Given the description of an element on the screen output the (x, y) to click on. 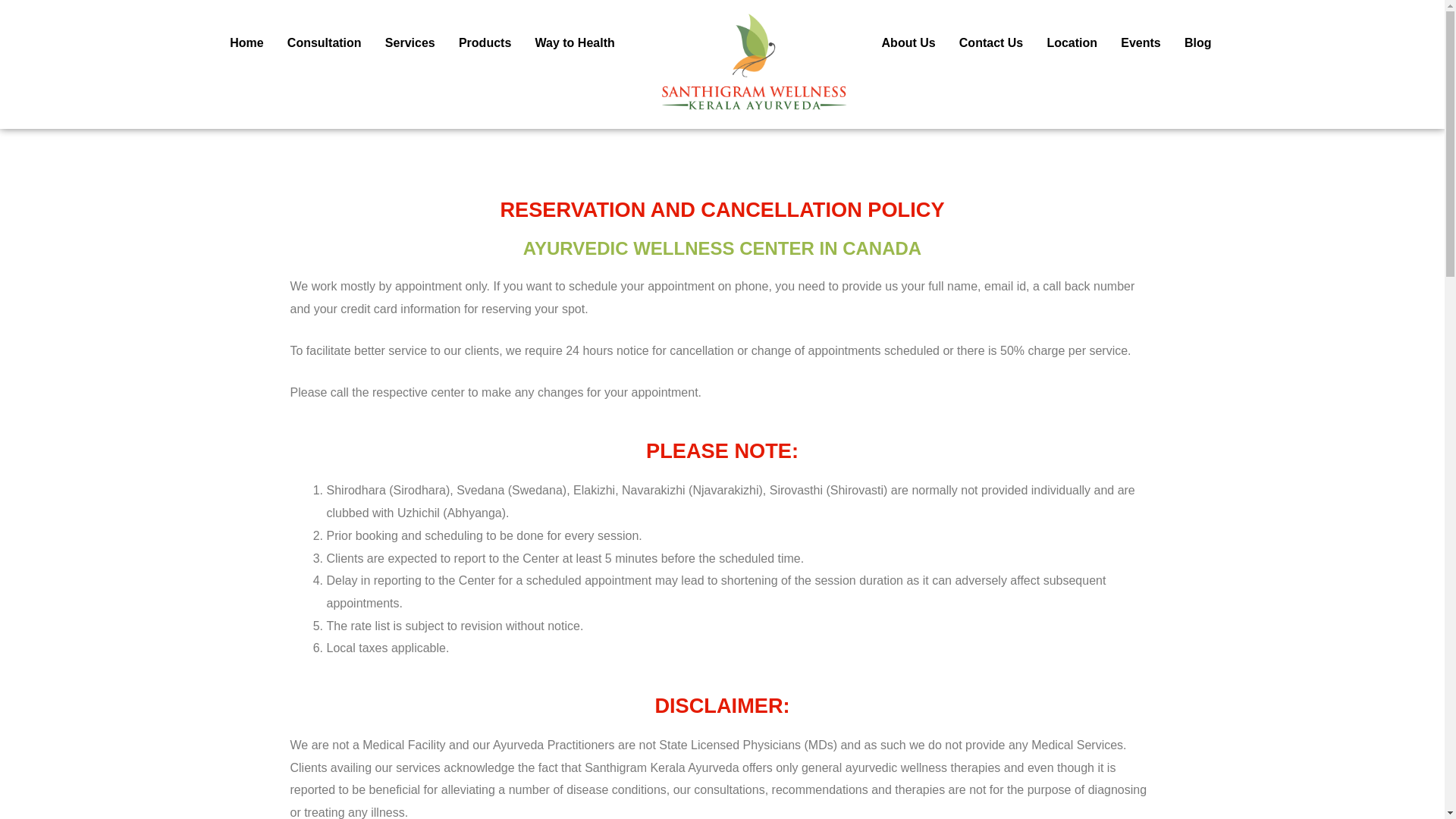
Contact Us (991, 42)
Home (247, 42)
Products (484, 42)
Services (409, 42)
About Us (908, 42)
Events (1141, 42)
Location (1072, 42)
Consultation (323, 42)
Way to Health (574, 42)
